Given the description of an element on the screen output the (x, y) to click on. 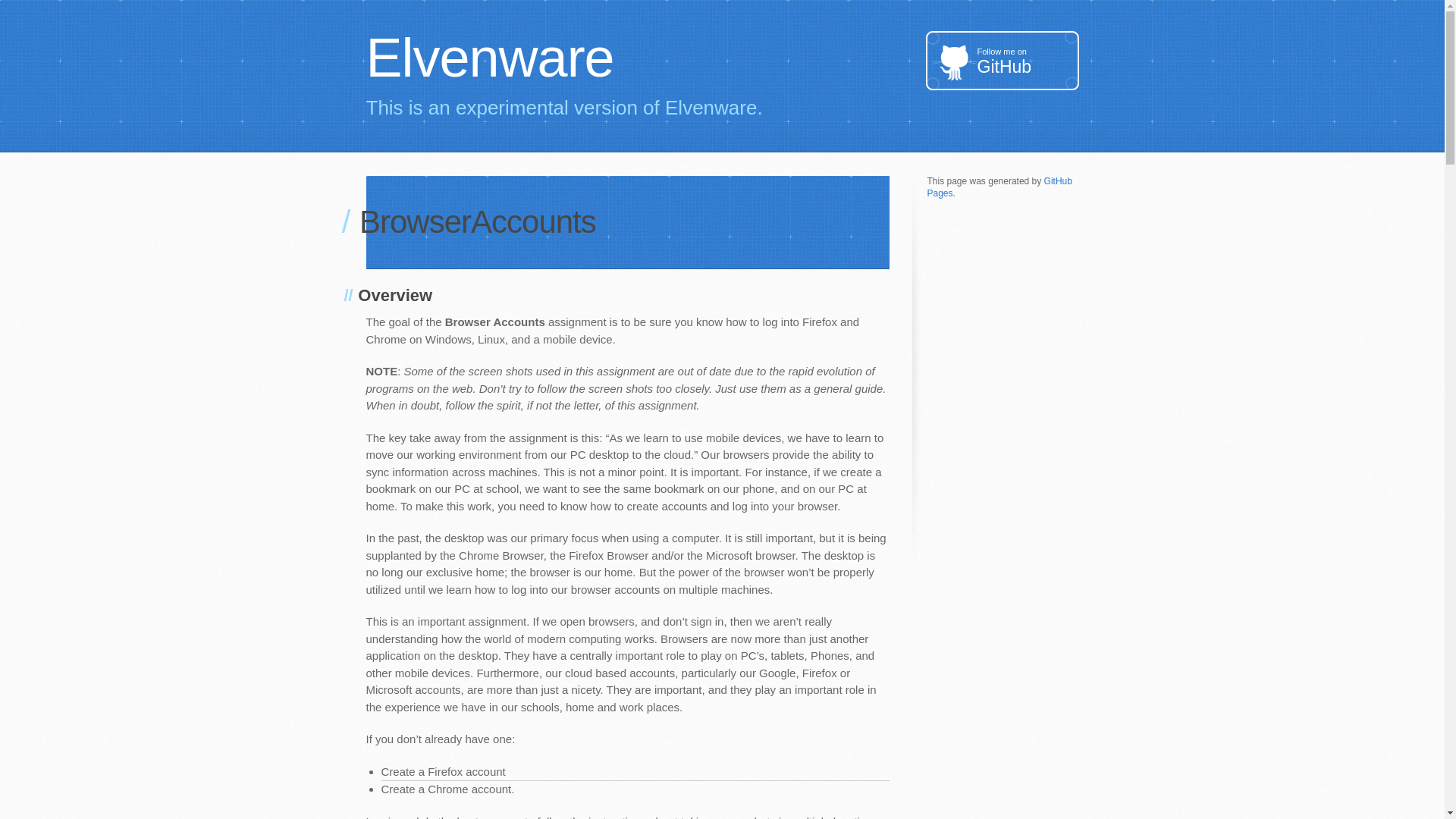
Elvenware (721, 57)
GitHub Pages (1001, 60)
